Given the description of an element on the screen output the (x, y) to click on. 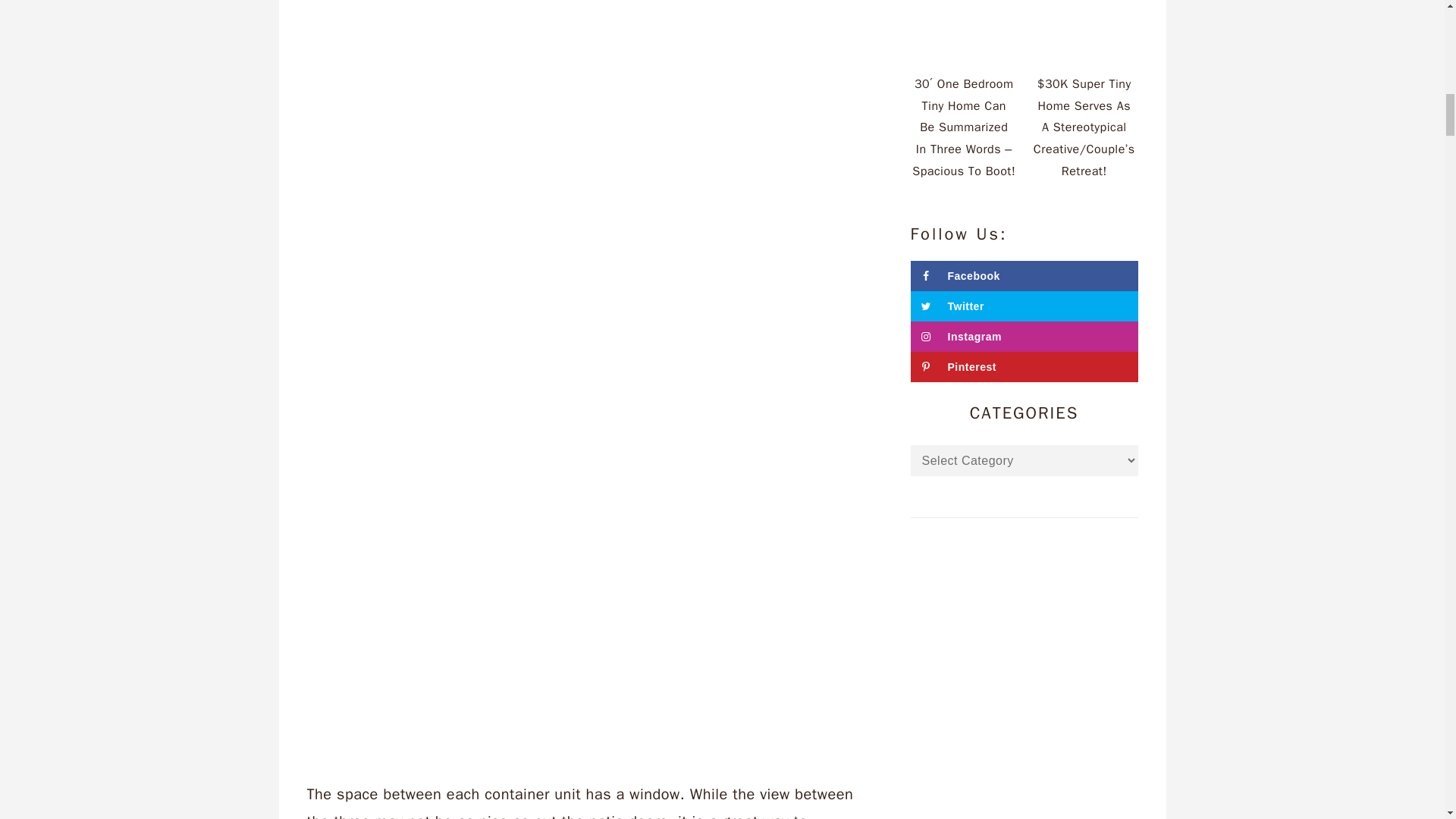
Follow on Facebook (1023, 276)
Follow on Instagram (1023, 336)
Follow on Twitter (1023, 306)
Follow on Pinterest (1023, 367)
